Given the description of an element on the screen output the (x, y) to click on. 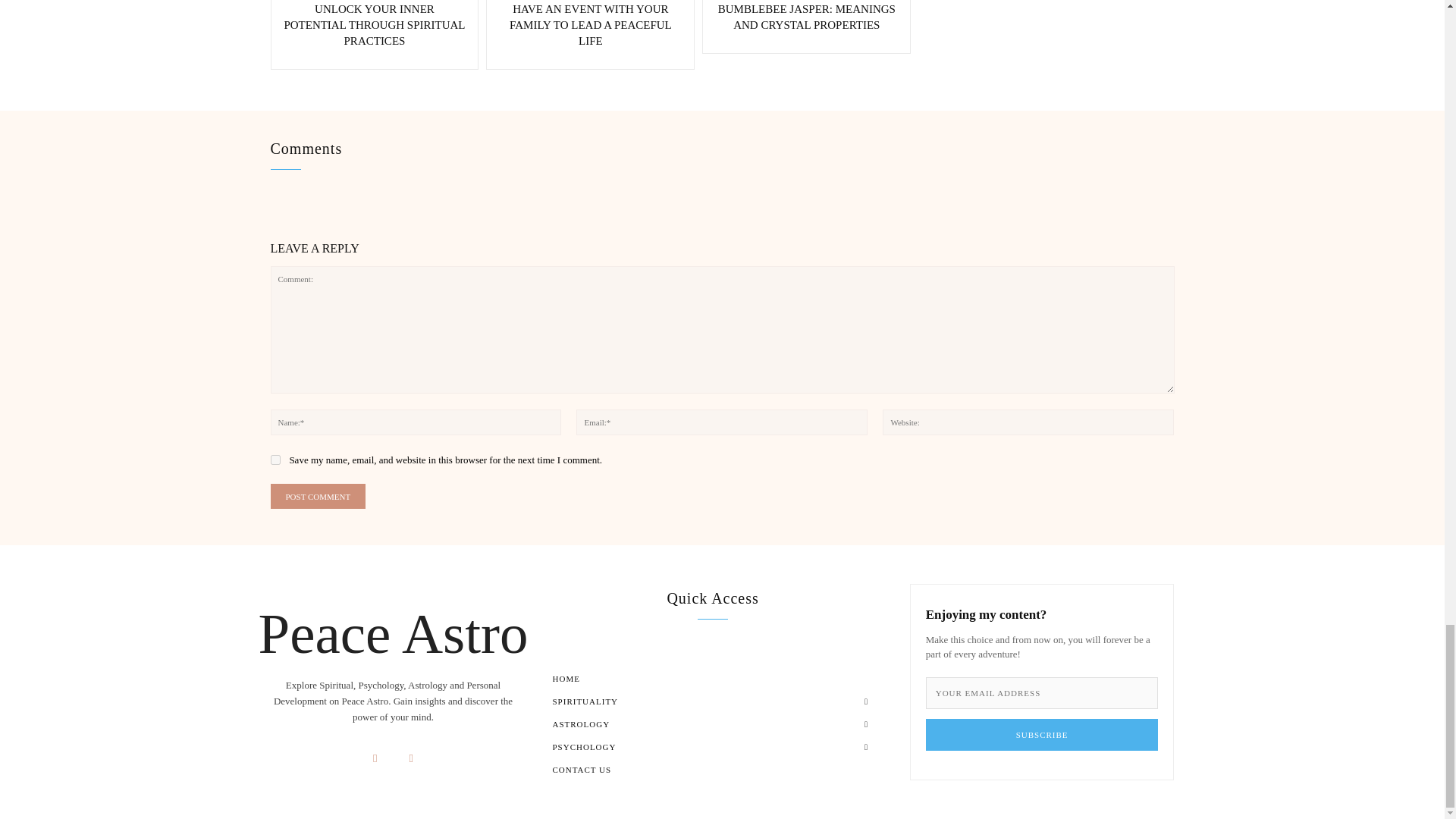
UNLOCK YOUR INNER POTENTIAL THROUGH SPIRITUAL PRACTICES (373, 24)
yes (274, 460)
HAVE AN EVENT WITH YOUR FAMILY TO LEAD A PEACEFUL LIFE (590, 24)
Unlock Your Inner Potential Through Spiritual Practices (373, 24)
Have An Event With Your Family To Lead A Peaceful Life (590, 24)
Post Comment (317, 496)
BUMBLEBEE JASPER: MEANINGS AND CRYSTAL PROPERTIES (806, 17)
